Given the description of an element on the screen output the (x, y) to click on. 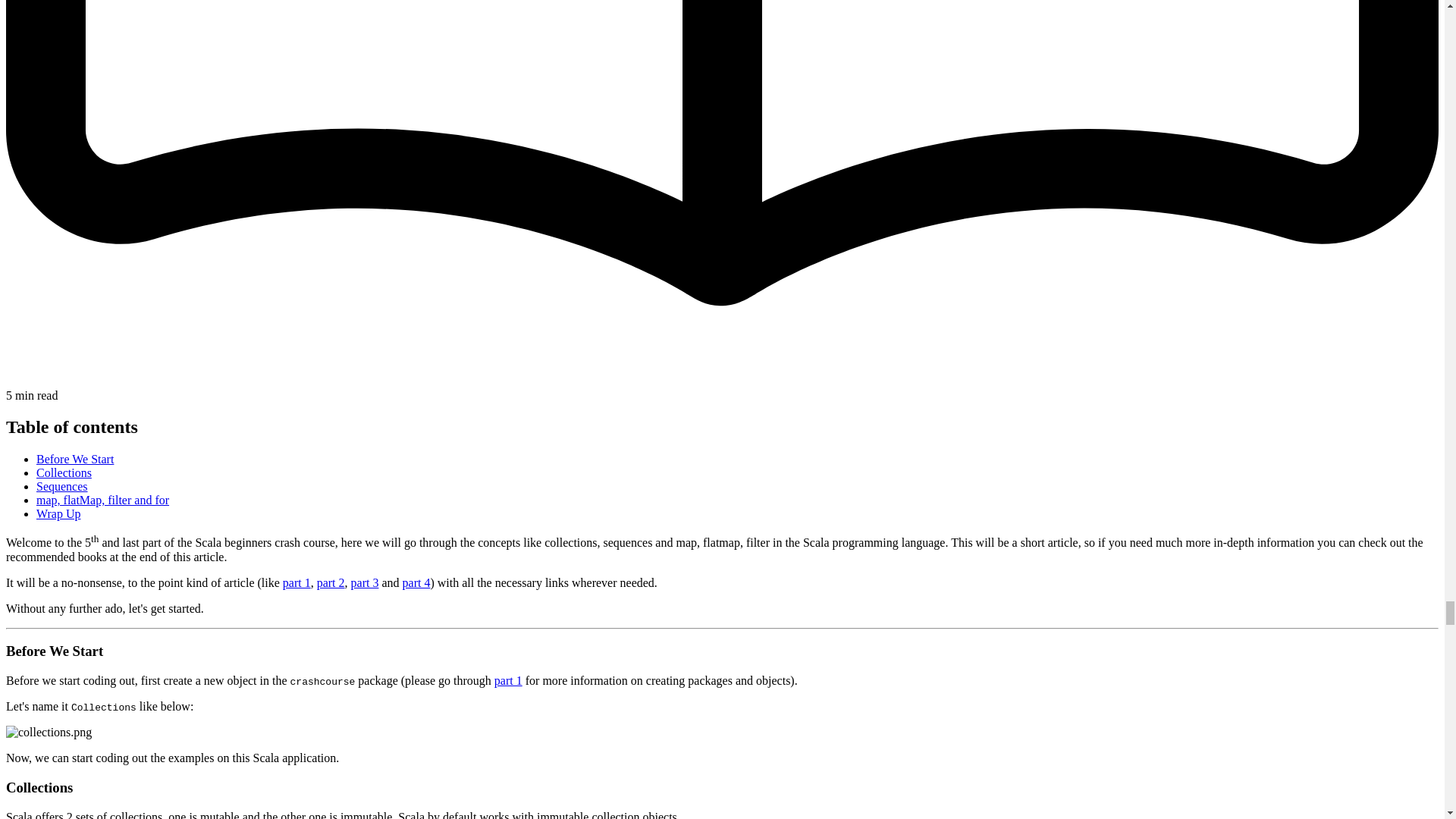
part 4 (416, 582)
part 2 (331, 582)
part 3 (364, 582)
part 1 (508, 680)
part 1 (296, 582)
